Given the description of an element on the screen output the (x, y) to click on. 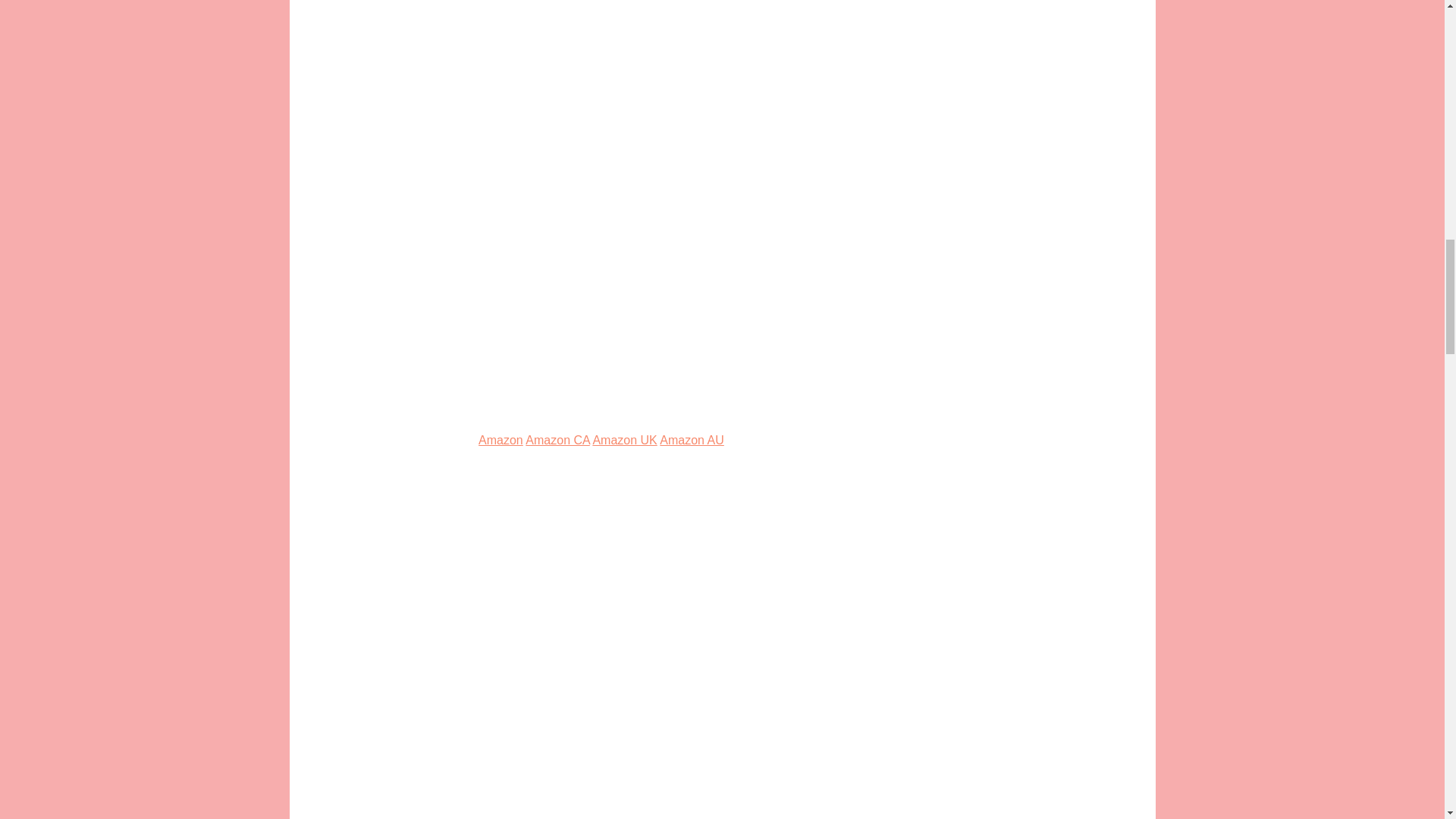
Amazon CA (557, 440)
Amazon (500, 440)
Amazon AU (691, 440)
Amazon UK (624, 440)
